Given the description of an element on the screen output the (x, y) to click on. 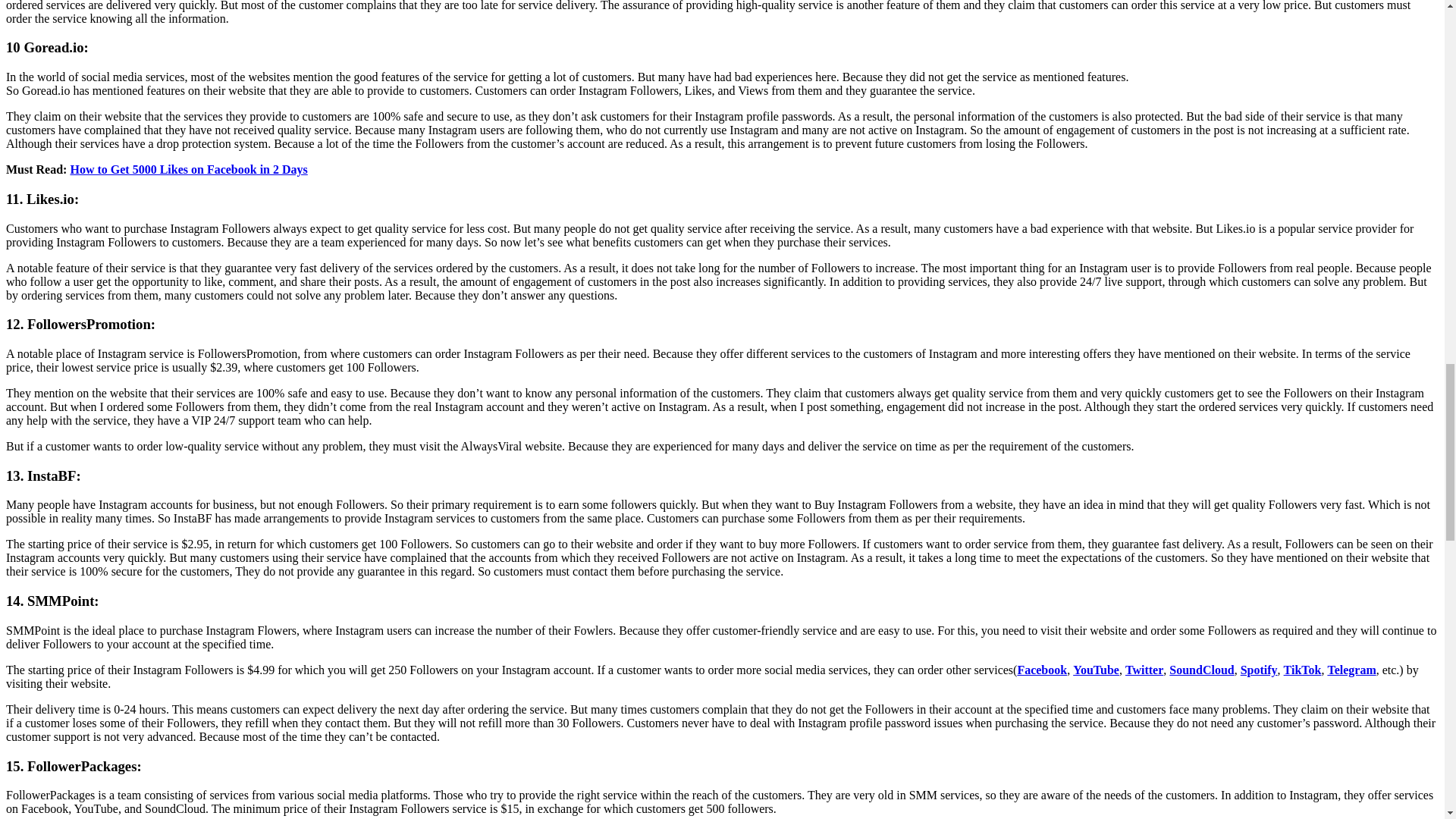
YouTube (1096, 669)
Telegram (1350, 669)
Twitter (1144, 669)
Facebook (1041, 669)
TikTok (1303, 669)
How to Get 5000 Likes on Facebook in 2 Days (188, 169)
SoundCloud (1201, 669)
Spotify (1259, 669)
